Given the description of an element on the screen output the (x, y) to click on. 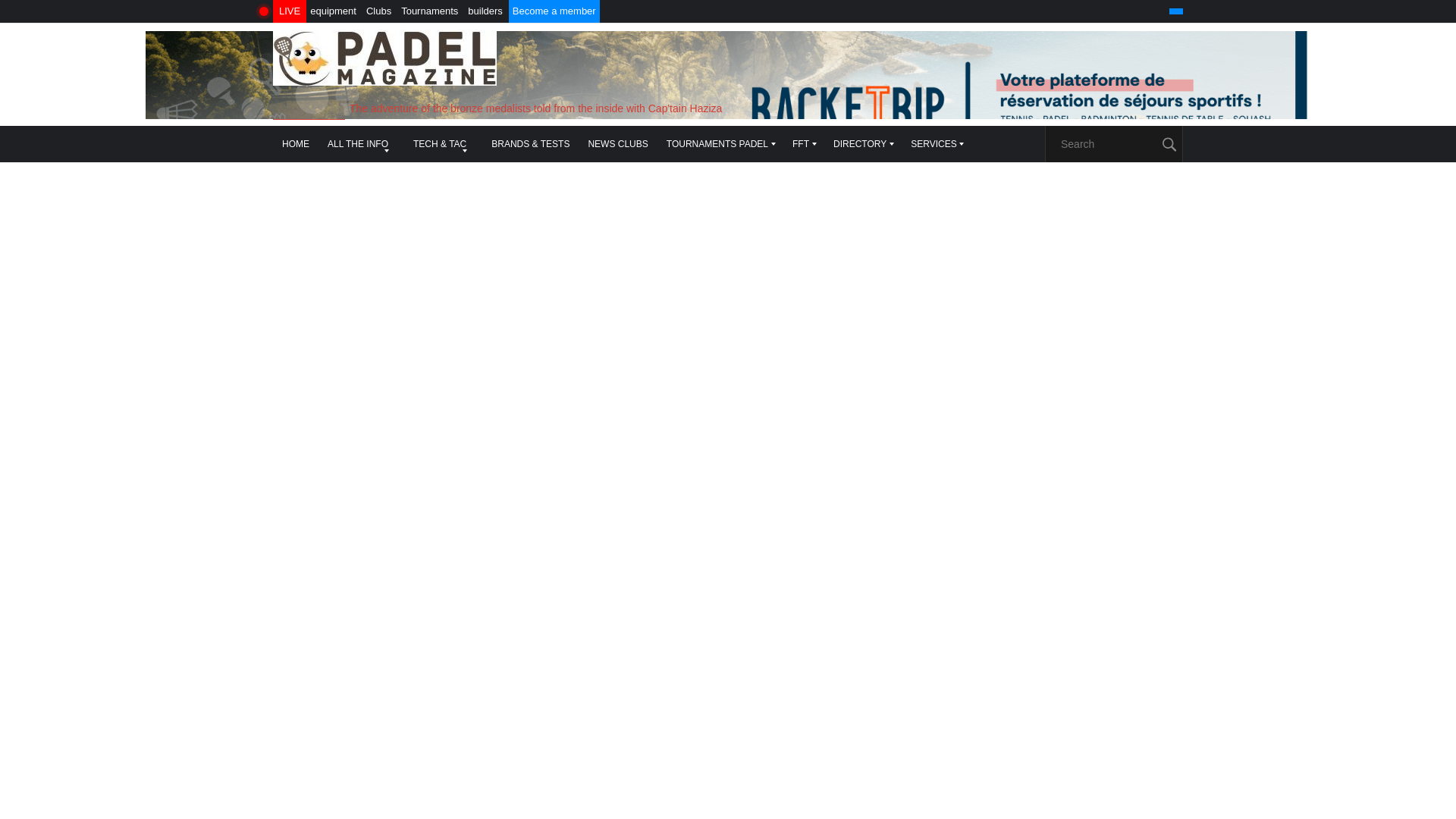
equipment (332, 11)
NEWS CLUBS (617, 144)
Clubs (378, 11)
Become a member (553, 11)
Tournaments (429, 11)
builders (485, 11)
LIVE (289, 11)
HOME (295, 144)
ALL THE INFO (358, 144)
